Given the description of an element on the screen output the (x, y) to click on. 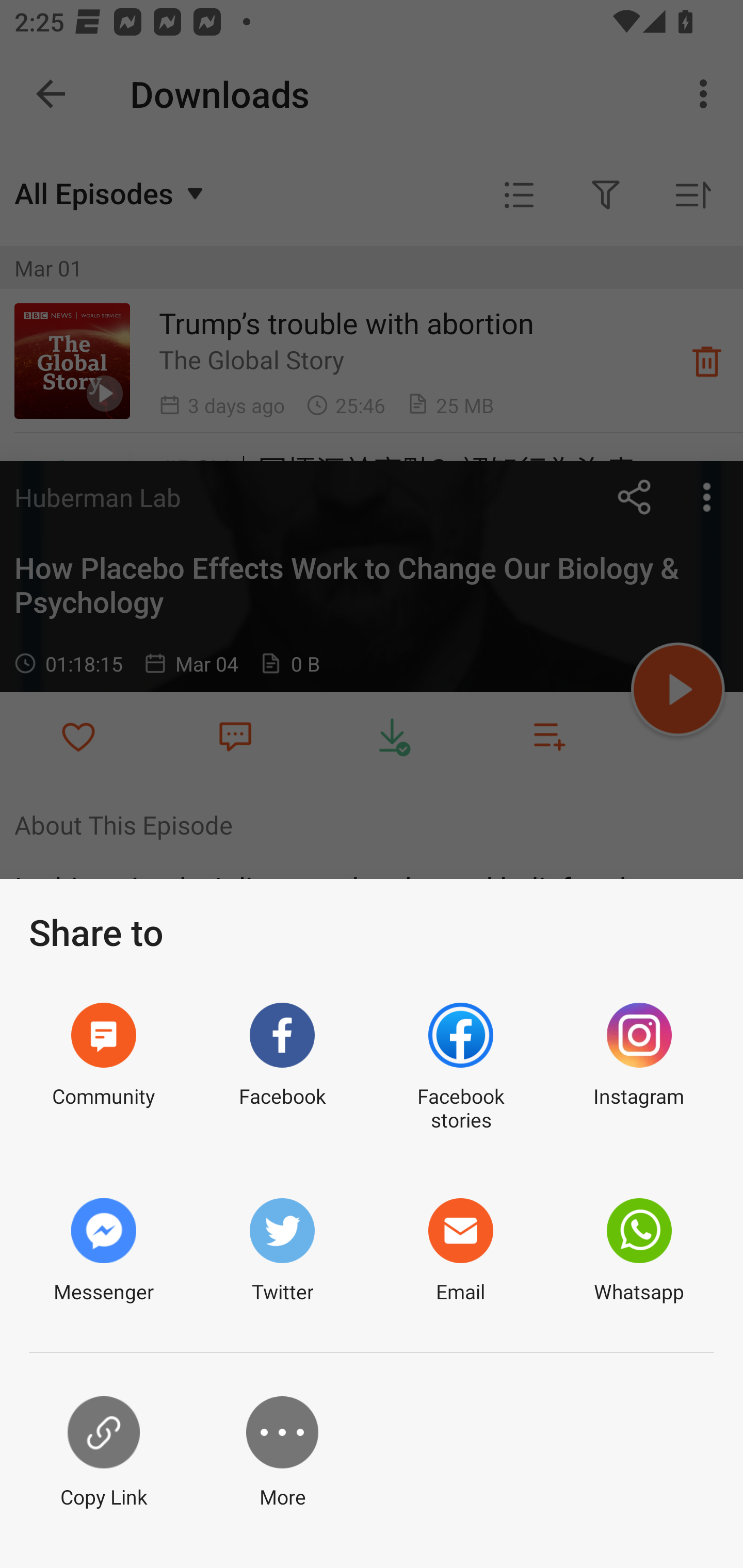
Community (103, 1067)
Facebook (282, 1067)
Facebook stories (460, 1067)
Instagram (638, 1067)
Messenger (103, 1251)
Twitter (282, 1251)
Email (460, 1251)
Whatsapp (638, 1251)
Copy Link (103, 1453)
More (282, 1453)
